Given the description of an element on the screen output the (x, y) to click on. 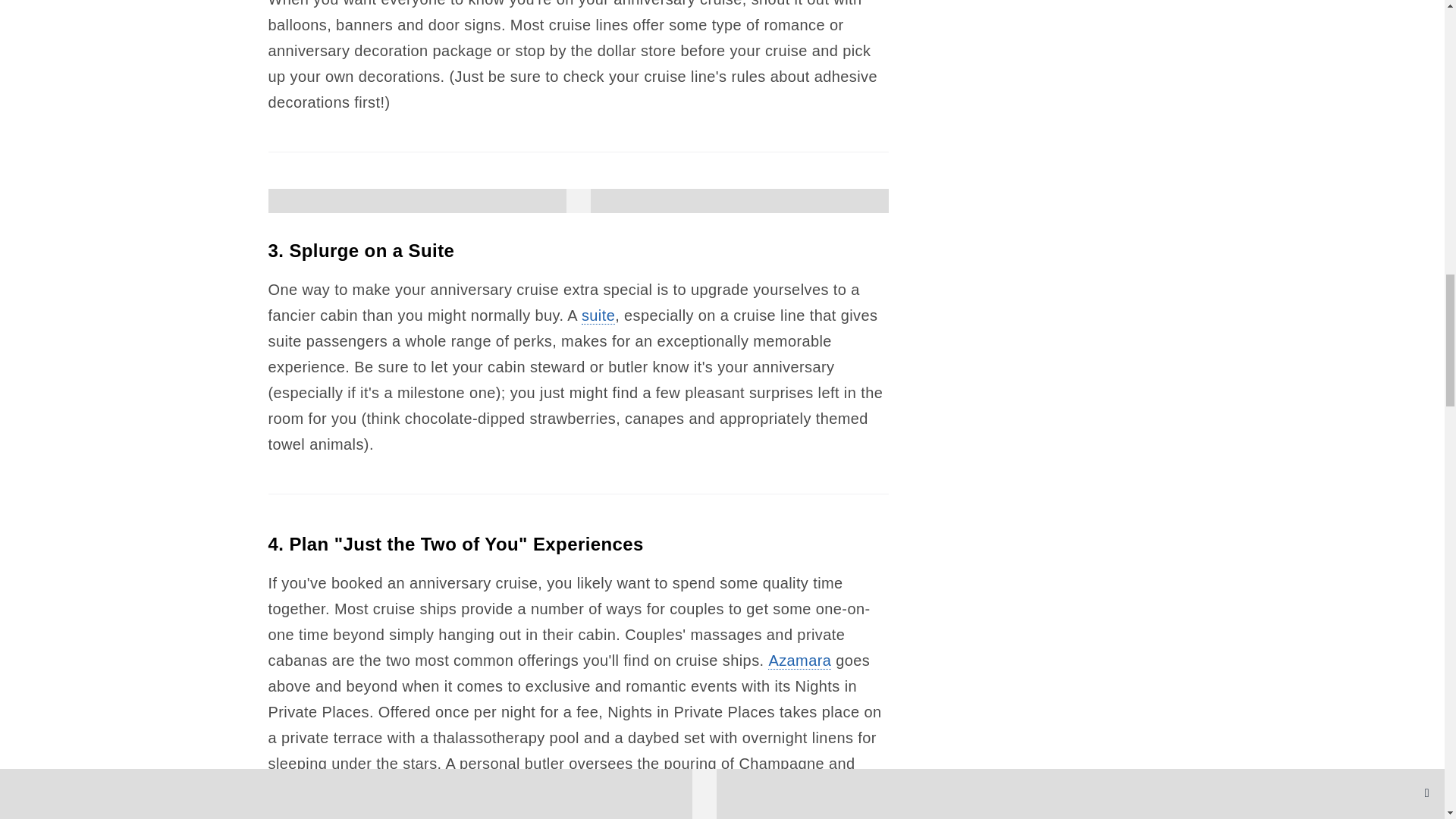
suite (597, 315)
Azamara (799, 660)
